Given the description of an element on the screen output the (x, y) to click on. 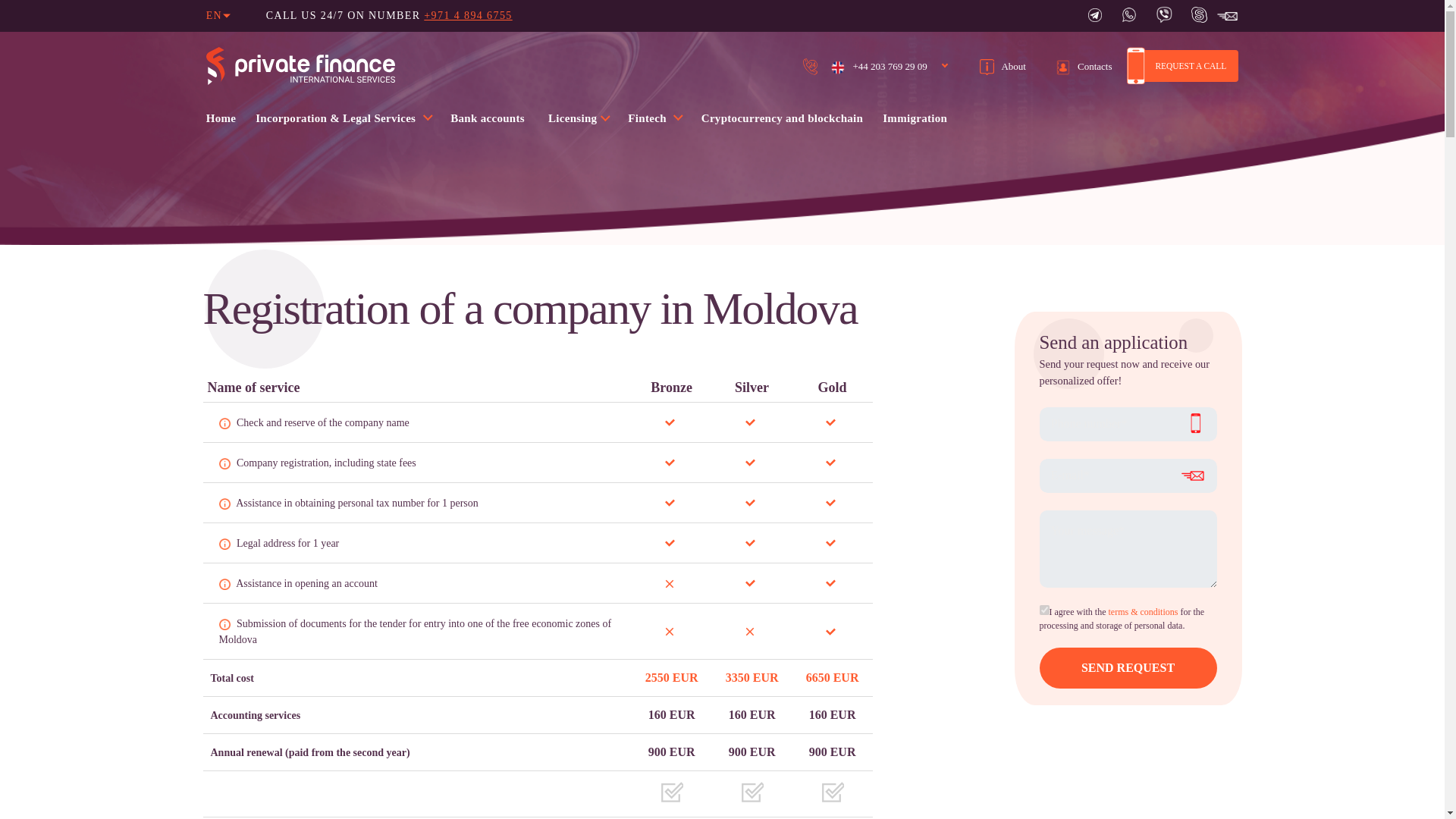
EN (213, 15)
on (1043, 610)
Contacts (1083, 66)
Home (220, 118)
About (1002, 66)
REQUEST A CALL (1182, 65)
Bank accounts (486, 118)
